Given the description of an element on the screen output the (x, y) to click on. 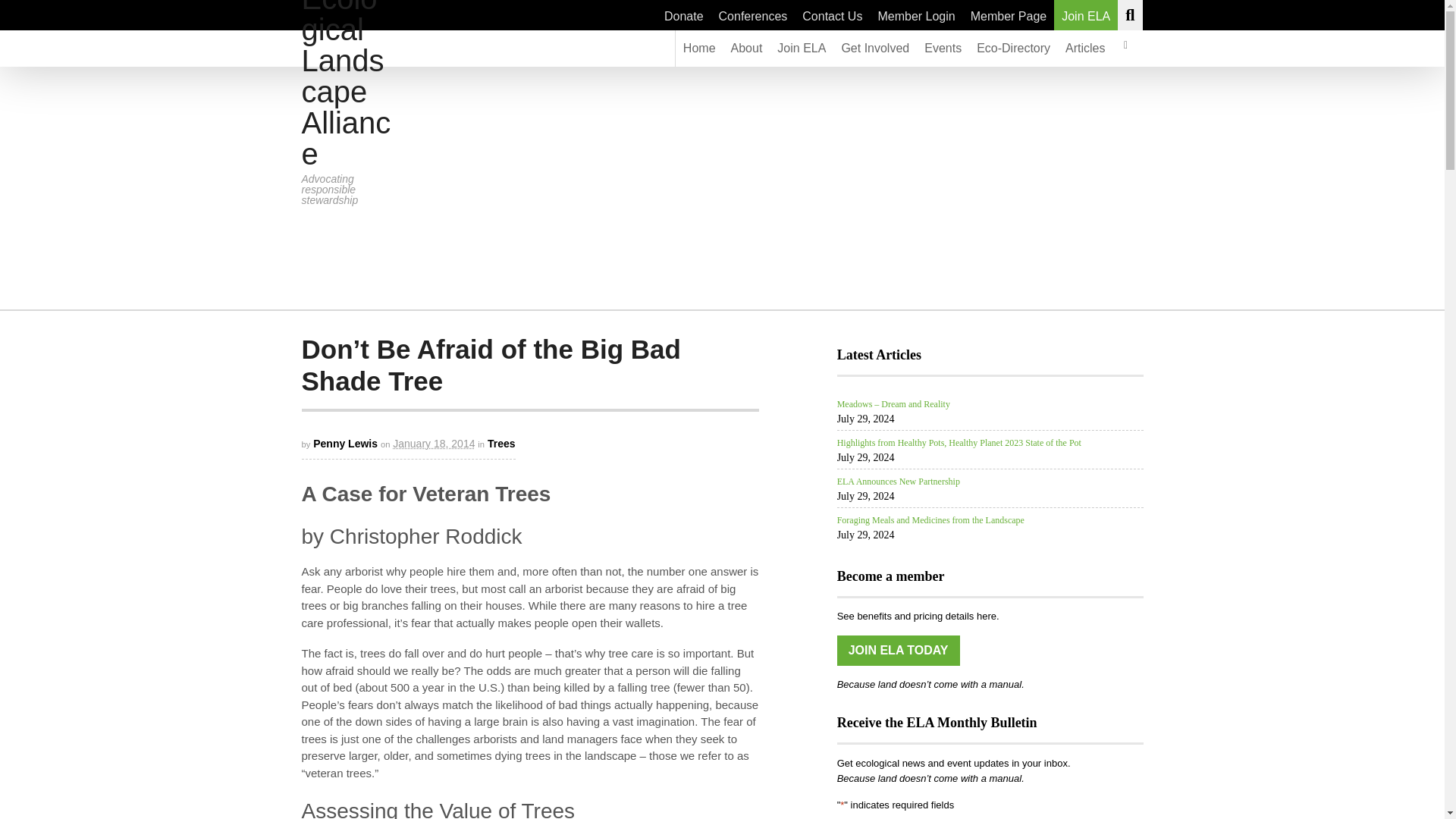
Events (943, 48)
Conferences (752, 15)
Join ELA (1086, 15)
View all items in Trees (501, 443)
Member Login (915, 15)
Contact Us (831, 15)
Donate (683, 15)
Home (699, 48)
Member Page (1008, 15)
Join ELA (801, 48)
About (746, 48)
2014-01-18T19:31:40-0500 (433, 443)
View your shopping cart (1124, 48)
Get Involved (874, 48)
Posts by Penny Lewis (345, 443)
